Given the description of an element on the screen output the (x, y) to click on. 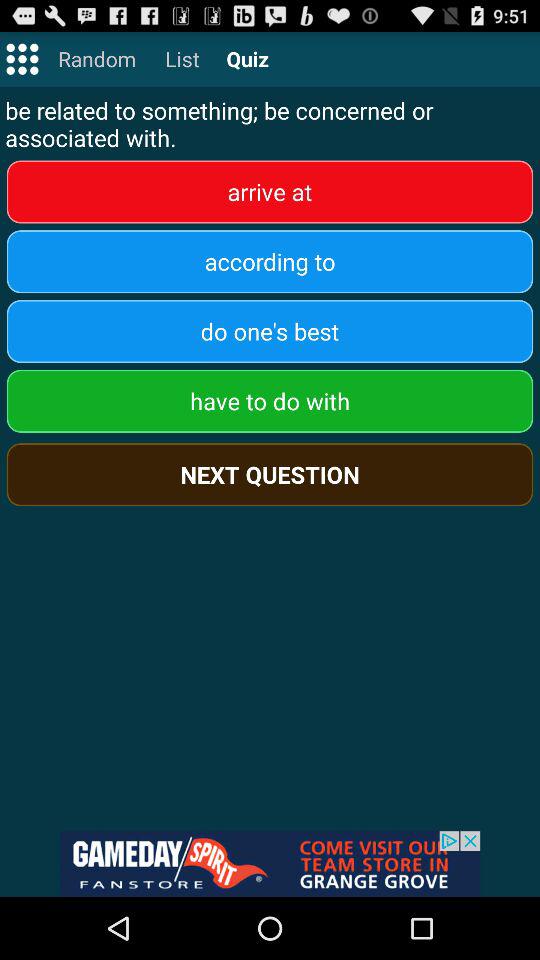
menu button (22, 58)
